Given the description of an element on the screen output the (x, y) to click on. 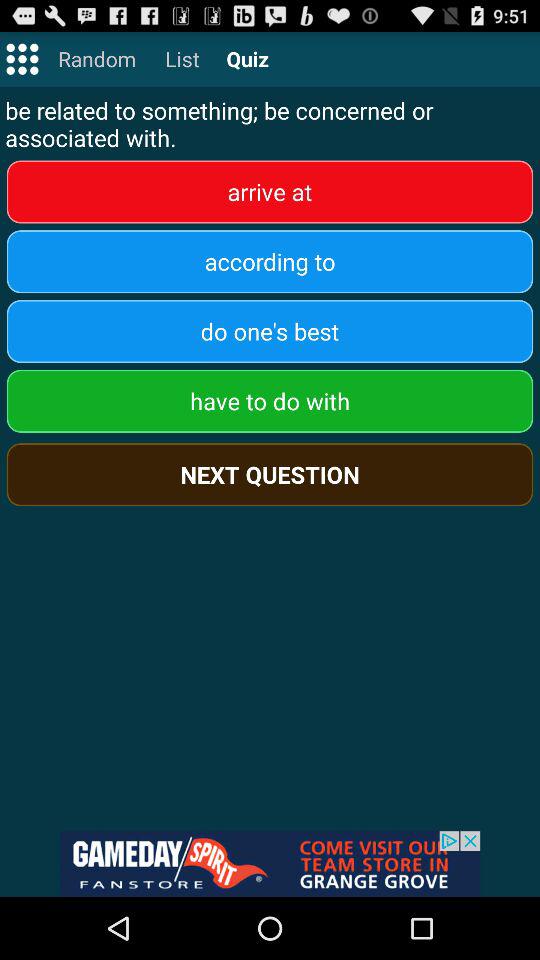
menu button (22, 58)
